Given the description of an element on the screen output the (x, y) to click on. 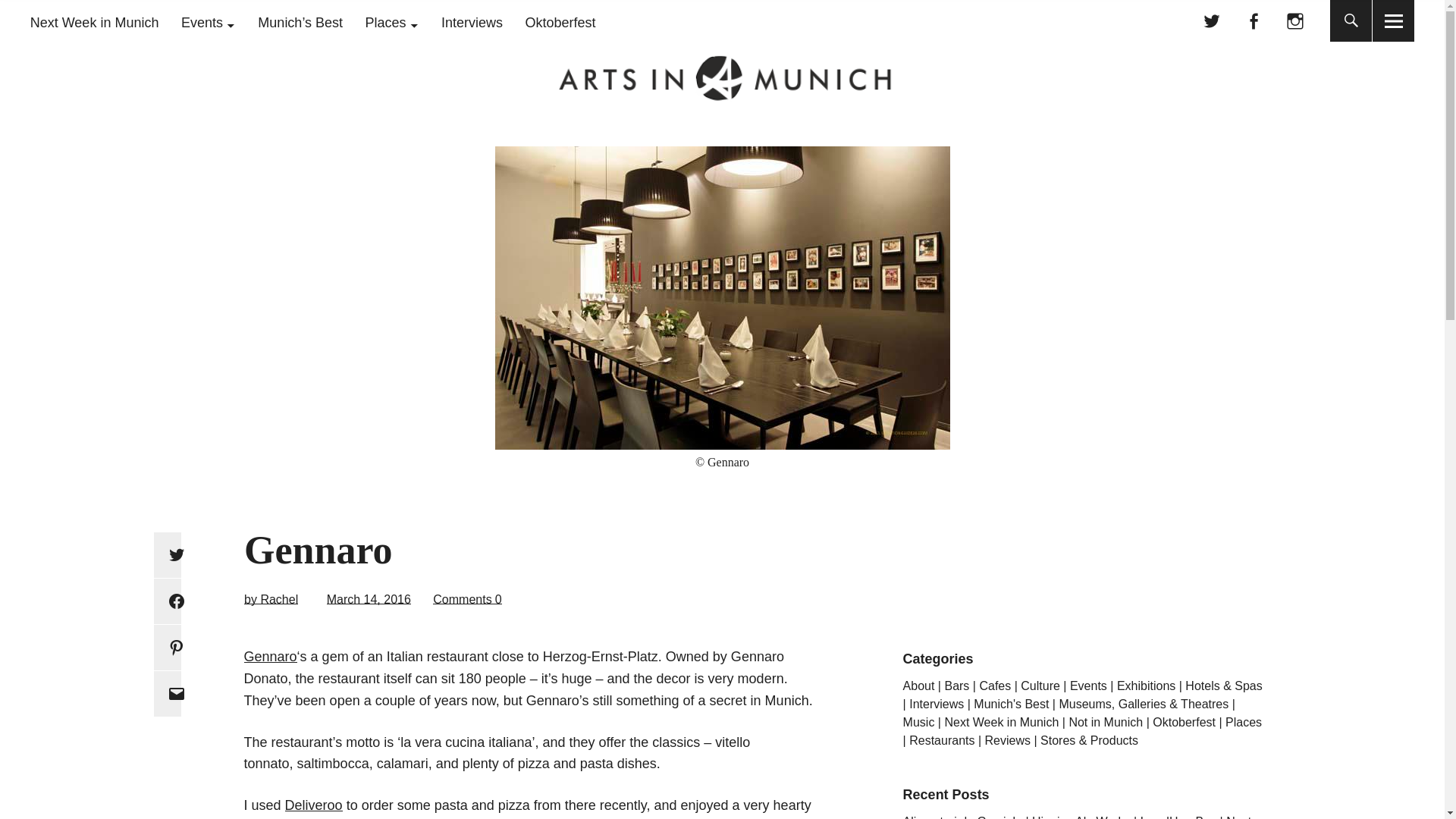
Events (207, 22)
instagram (1295, 20)
Arts in Munich (214, 100)
Interviews (471, 22)
twitter (1211, 20)
Next Week in Munich (94, 22)
facebook (1252, 20)
Oktoberfest (559, 22)
Search (692, 19)
Places (392, 22)
